Given the description of an element on the screen output the (x, y) to click on. 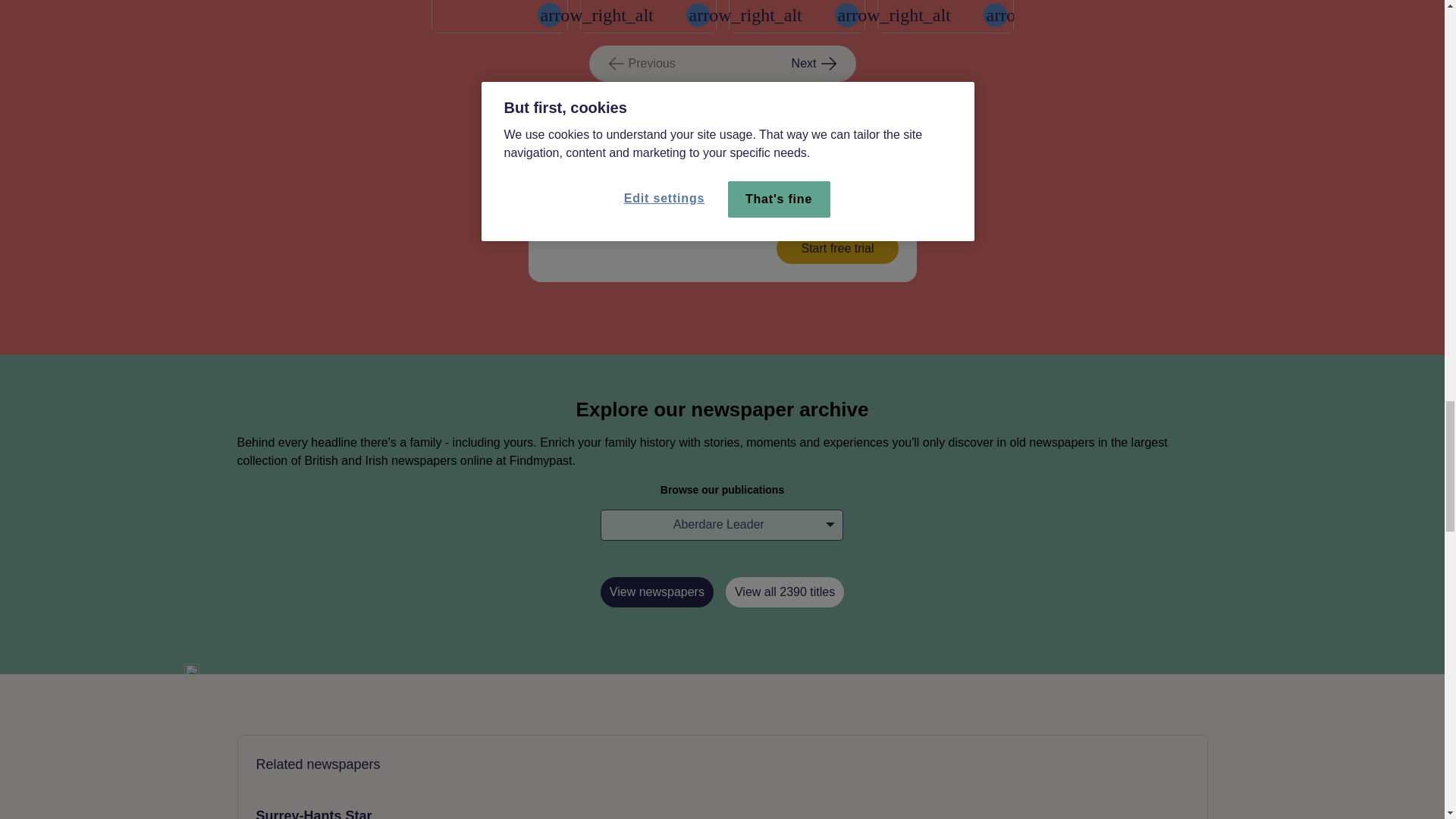
Start free trial (816, 63)
View newspapers (639, 63)
View all 2390 titles (837, 248)
